Given the description of an element on the screen output the (x, y) to click on. 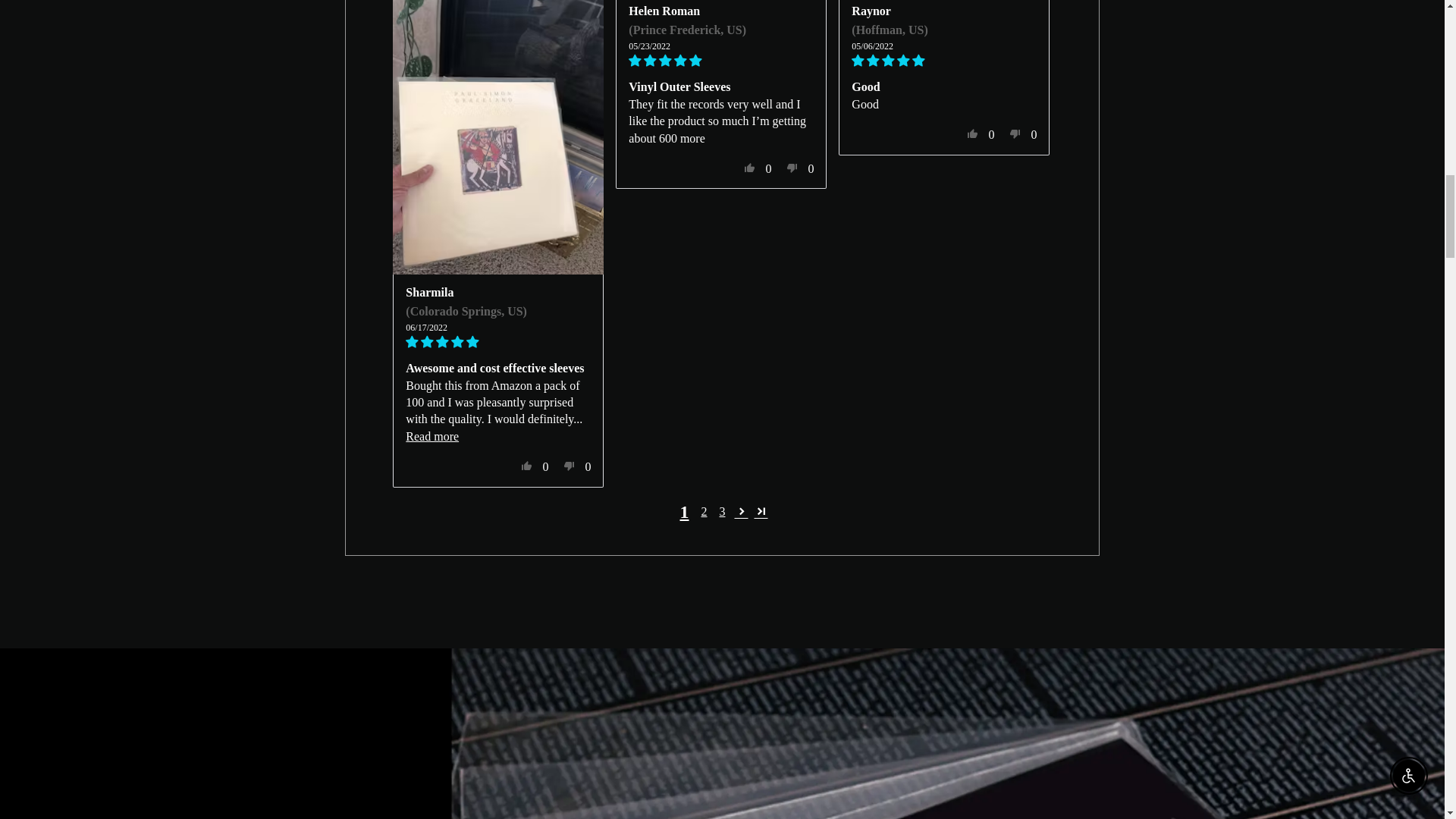
up (526, 465)
up (972, 133)
up (749, 167)
down (792, 167)
down (568, 465)
down (1015, 133)
